Given the description of an element on the screen output the (x, y) to click on. 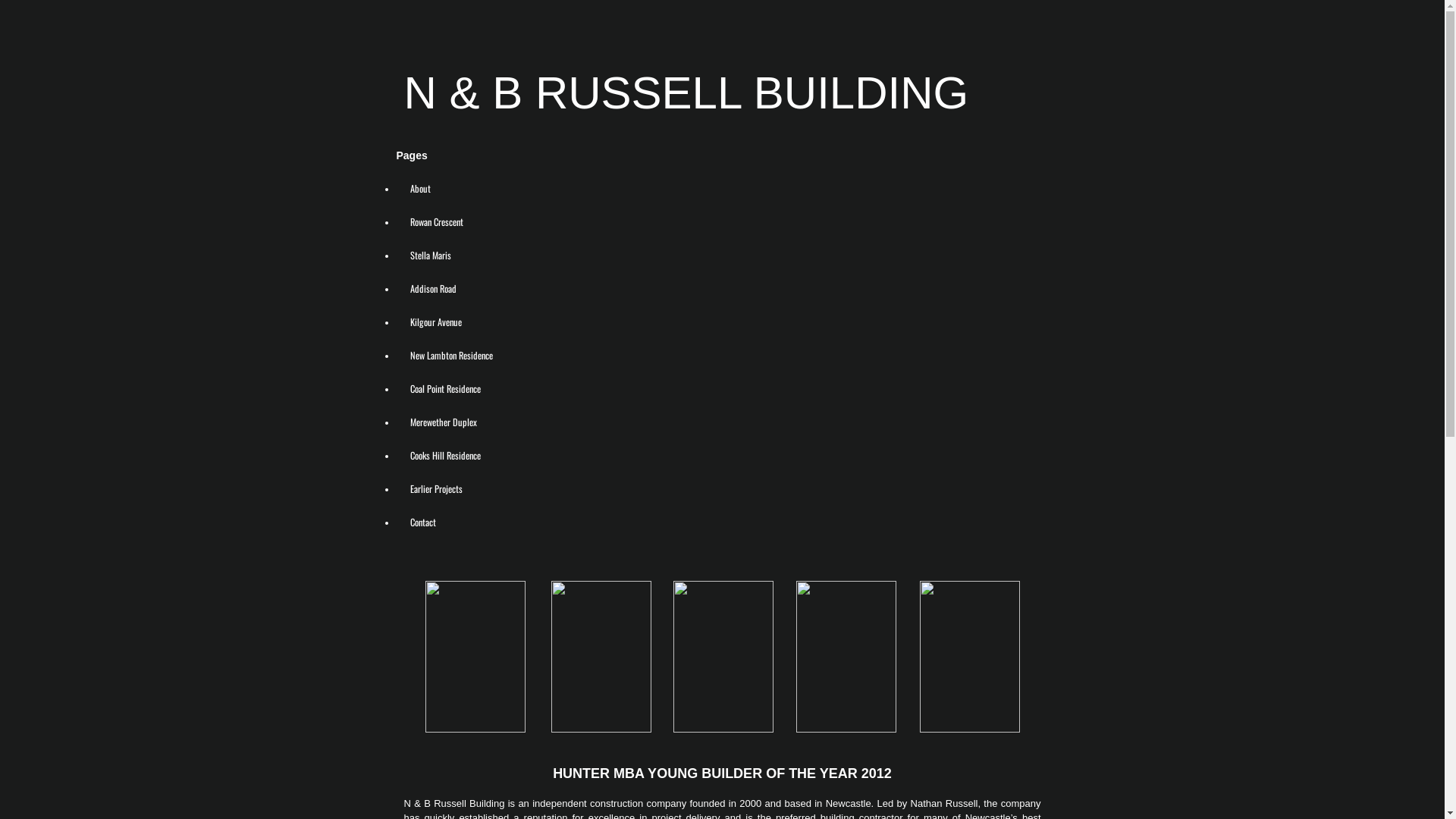
Merewether Duplex Element type: text (443, 421)
Cooks Hill Residence Element type: text (445, 454)
Stella Maris Element type: text (430, 254)
Addison Road Element type: text (432, 287)
Kilgour Avenue Element type: text (435, 321)
New Lambton Residence Element type: text (451, 354)
About Element type: text (420, 187)
Contact Element type: text (422, 521)
Rowan Crescent Element type: text (436, 221)
Earlier Projects Element type: text (435, 488)
         Element type: text (464, 658)
N & B RUSSELL BUILDING Element type: text (685, 92)
Coal Point Residence Element type: text (445, 387)
